Given the description of an element on the screen output the (x, y) to click on. 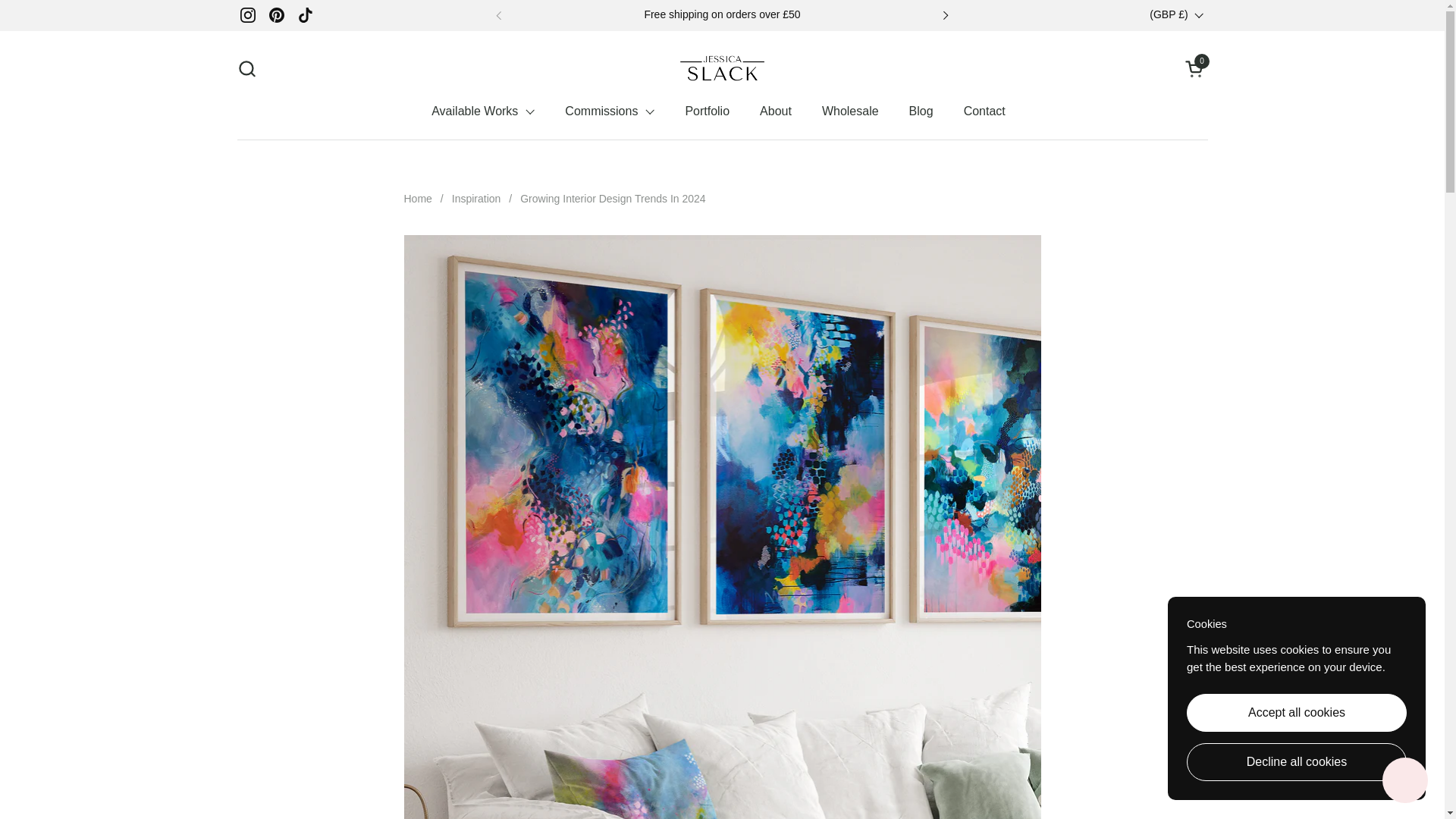
Available Works (483, 111)
Pinterest (276, 14)
Portfolio (706, 111)
Contact (984, 111)
TikTok (305, 14)
Instagram (247, 14)
Wholesale (849, 111)
Commissions (609, 111)
Open cart (1196, 67)
Jessica Slack (722, 68)
About (1196, 67)
Blog (775, 111)
Open search (921, 111)
Skip to content (245, 67)
